Given the description of an element on the screen output the (x, y) to click on. 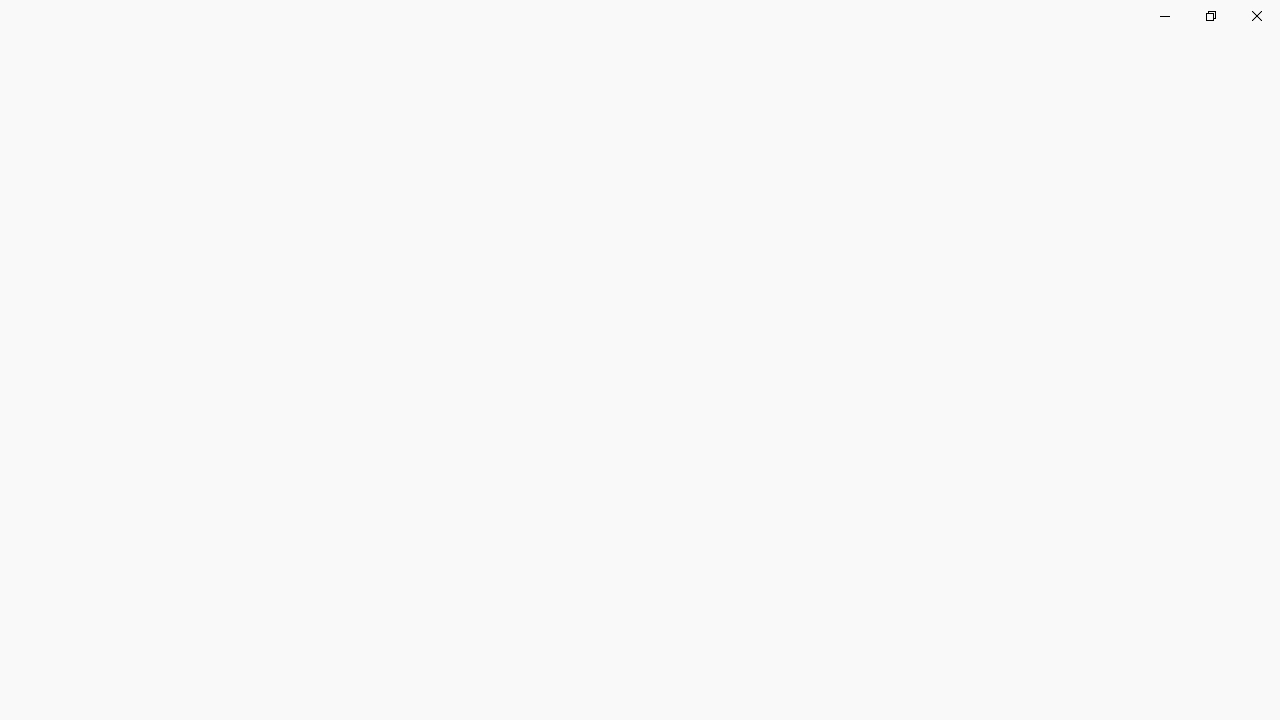
Minimize Clock (1164, 15)
Close Clock (1256, 15)
Restore Clock (1210, 15)
